Given the description of an element on the screen output the (x, y) to click on. 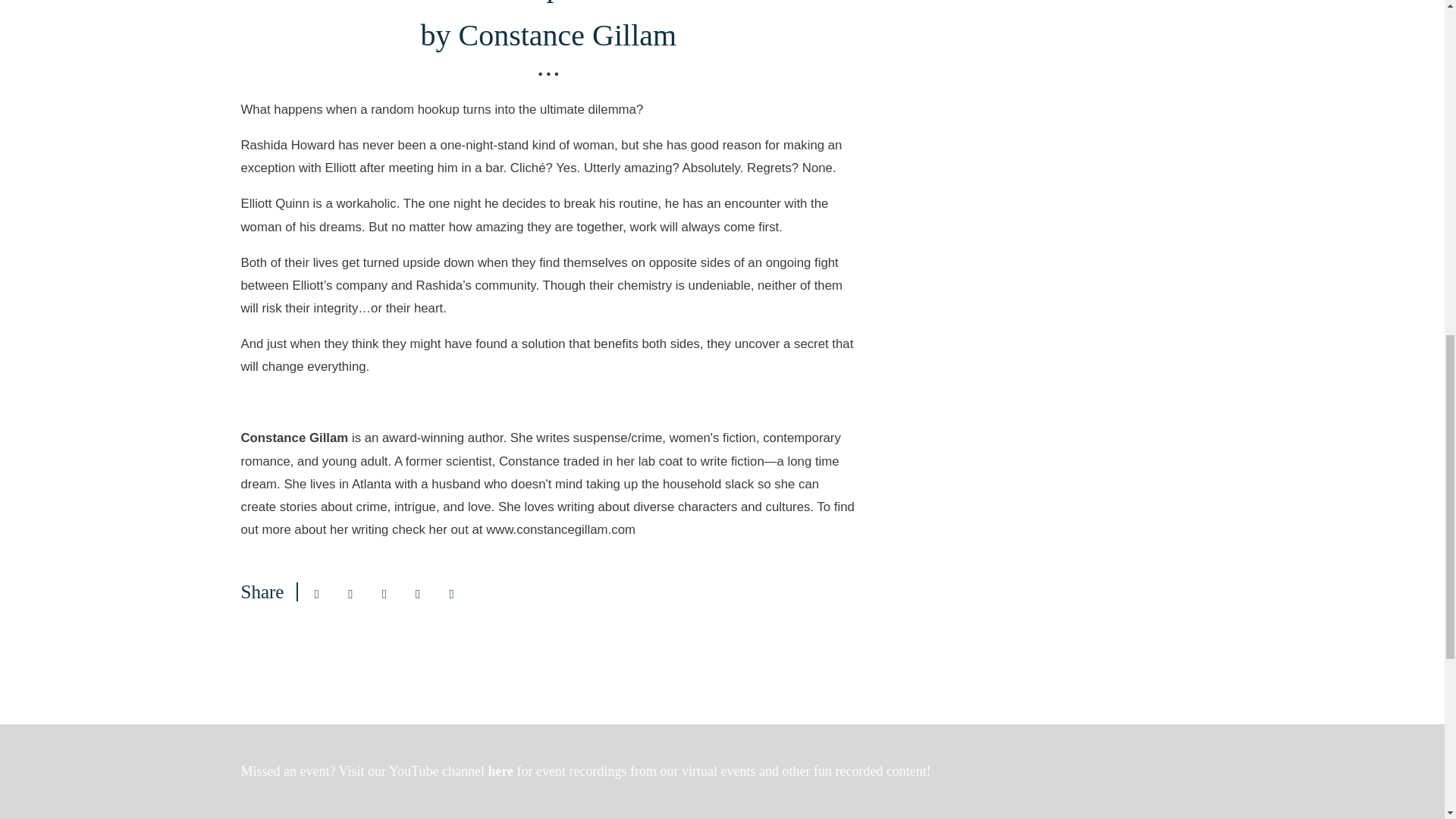
Share on twitter (383, 594)
here (501, 770)
Share on tumblr (451, 594)
YouTube (415, 770)
Share on pinterest (417, 594)
Share on facebook (349, 594)
Share on email (316, 594)
